Given the description of an element on the screen output the (x, y) to click on. 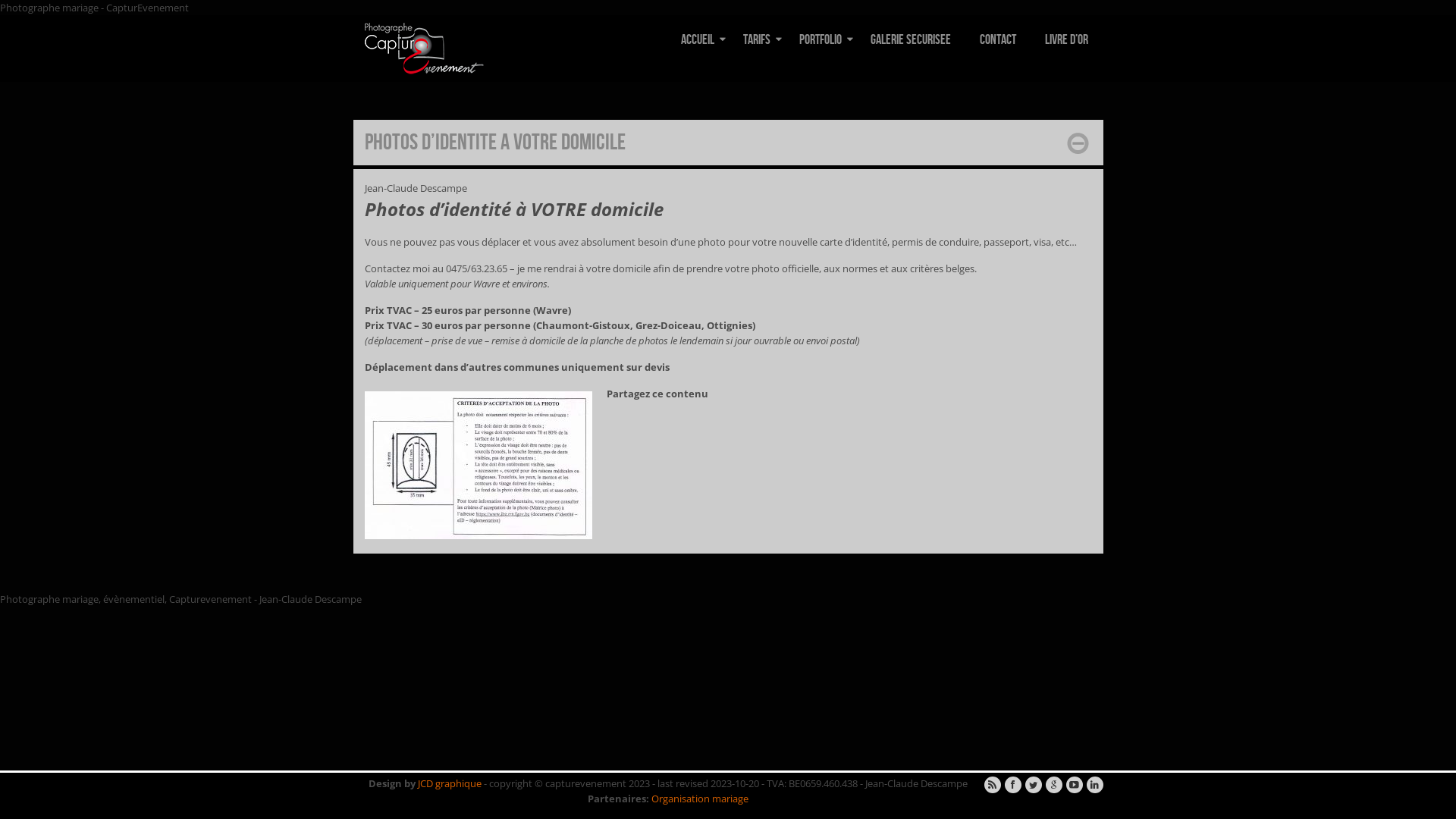
contact Element type: text (997, 40)
galerie securisee Element type: text (910, 40)
Organisation mariage Element type: text (698, 798)
Tarifs Element type: text (756, 40)
JCD graphique Element type: text (448, 783)
Portfolio Element type: text (820, 40)
Accueil Element type: text (697, 40)
